Given the description of an element on the screen output the (x, y) to click on. 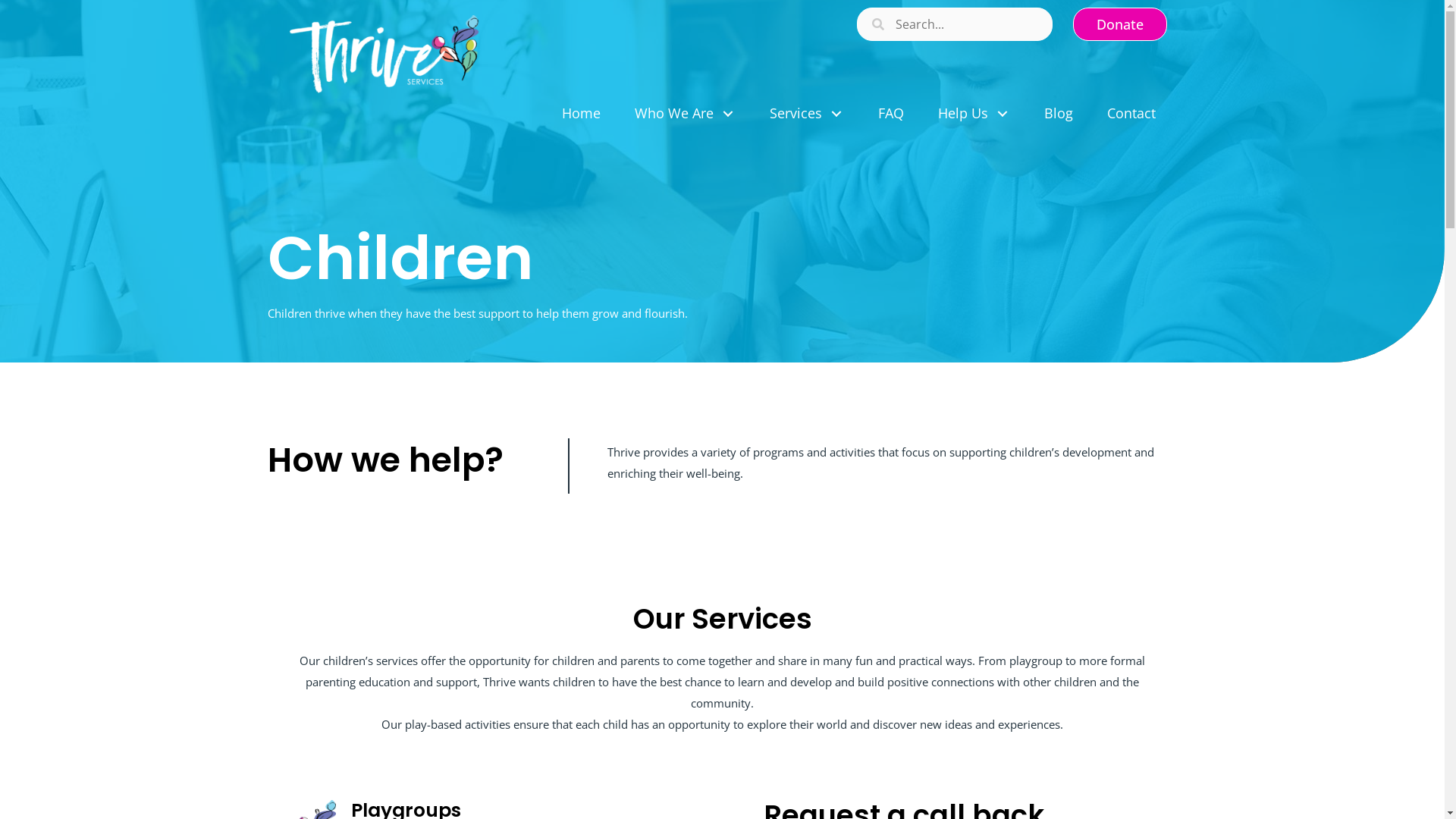
Contact Element type: text (1130, 113)
Blog Element type: text (1058, 113)
FAQ Element type: text (890, 113)
Help Us Element type: text (973, 113)
ThriveServices_logoWhite Element type: hover (384, 54)
Donate Element type: text (1120, 23)
Services Element type: text (806, 113)
Who We Are Element type: text (684, 113)
Home Element type: text (580, 113)
